Given the description of an element on the screen output the (x, y) to click on. 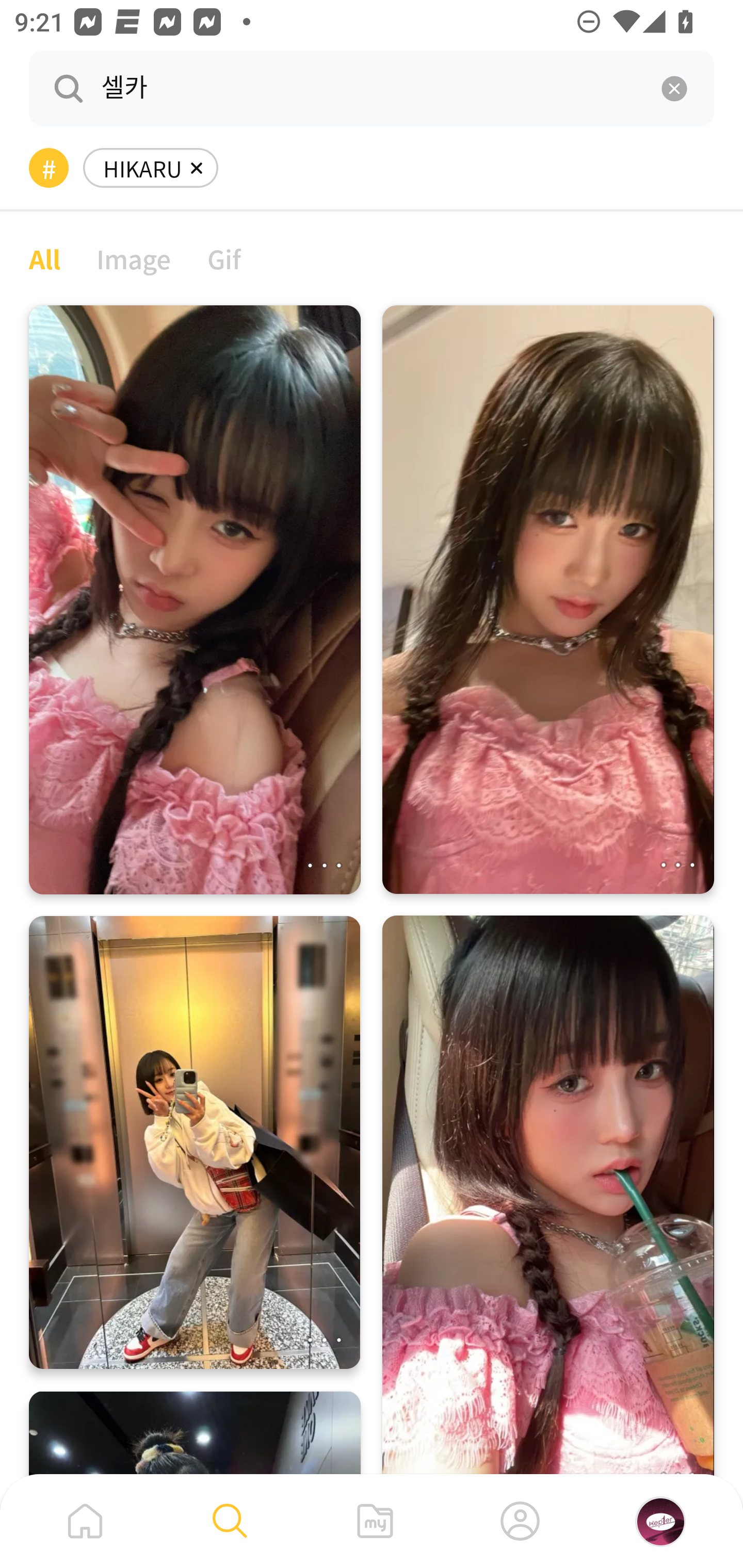
All (44, 257)
Image (133, 257)
Gif (223, 257)
